Given the description of an element on the screen output the (x, y) to click on. 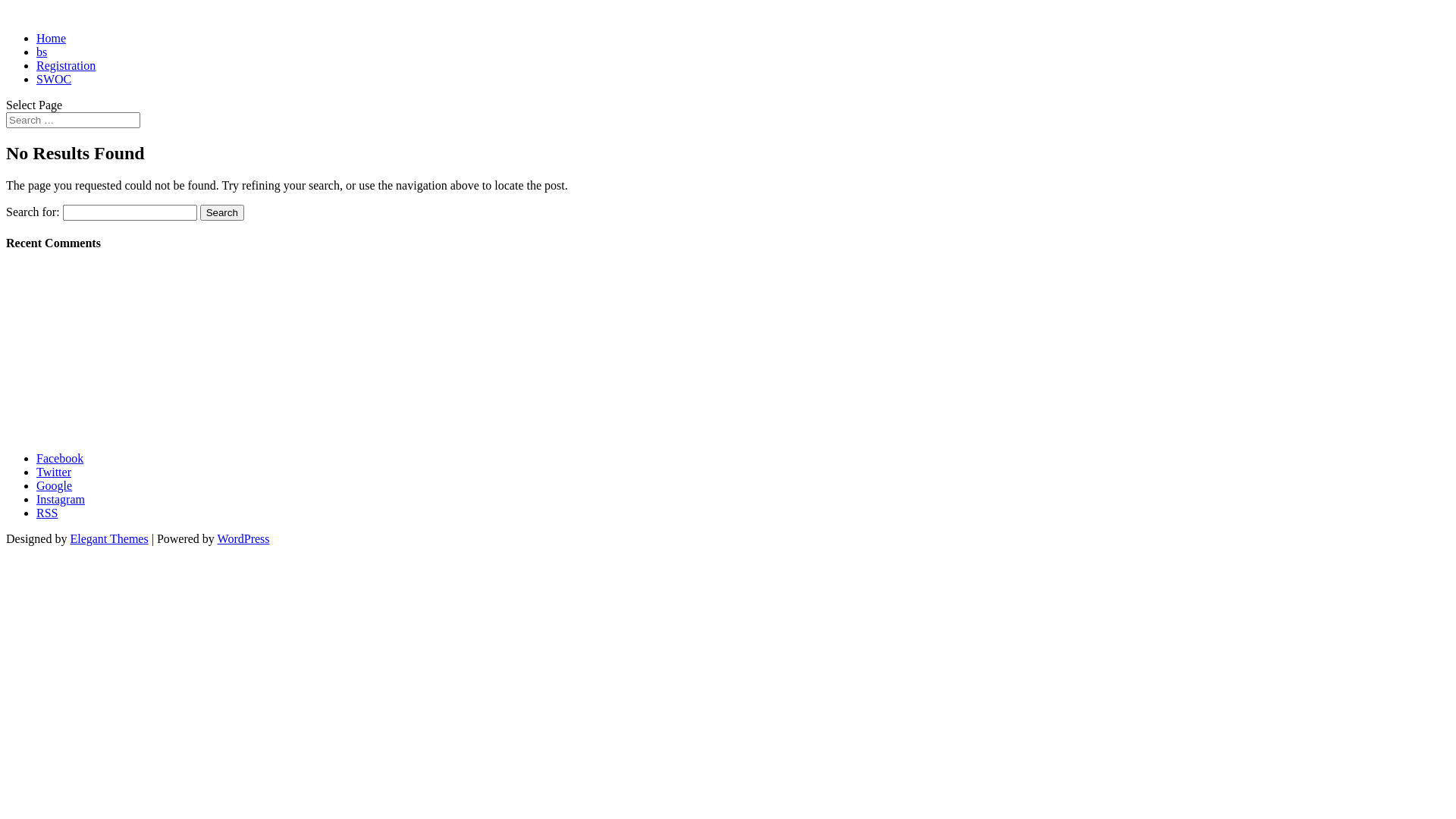
SWOC Element type: text (53, 78)
Registration Element type: text (65, 65)
Search Element type: text (222, 212)
Facebook Element type: text (59, 457)
bs Element type: text (41, 51)
Google Element type: text (54, 485)
WordPress Element type: text (243, 538)
Twitter Element type: text (53, 471)
Search for: Element type: hover (73, 120)
Entries feed Element type: text (65, 404)
Home Element type: text (50, 37)
Instagram Element type: text (60, 498)
WordPress.org Element type: text (71, 432)
Comments feed Element type: text (74, 418)
Elegant Themes Element type: text (108, 538)
RSS Element type: text (46, 512)
Log in Element type: text (52, 391)
